Given the description of an element on the screen output the (x, y) to click on. 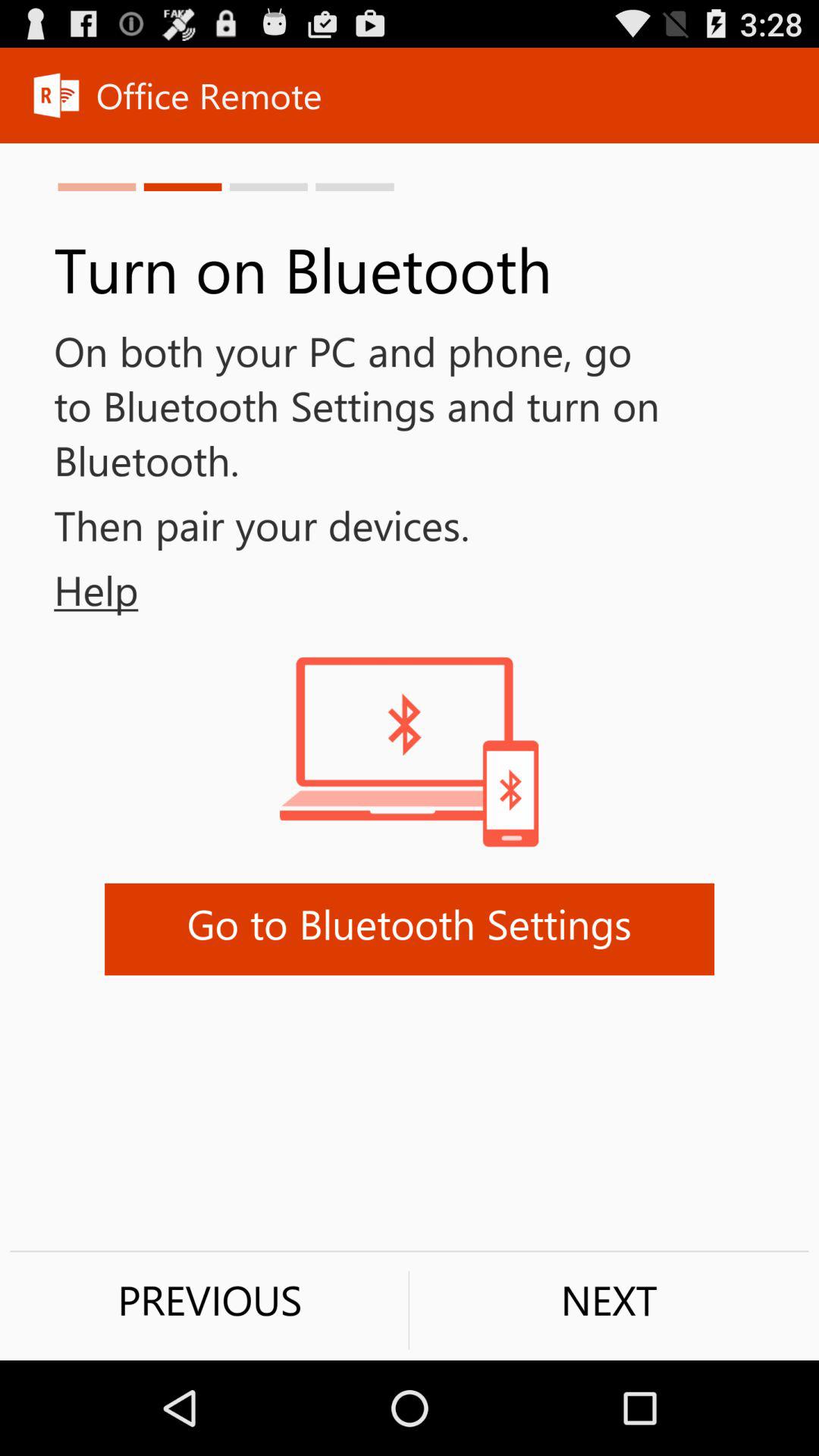
launch the icon to the left of next (209, 1300)
